Given the description of an element on the screen output the (x, y) to click on. 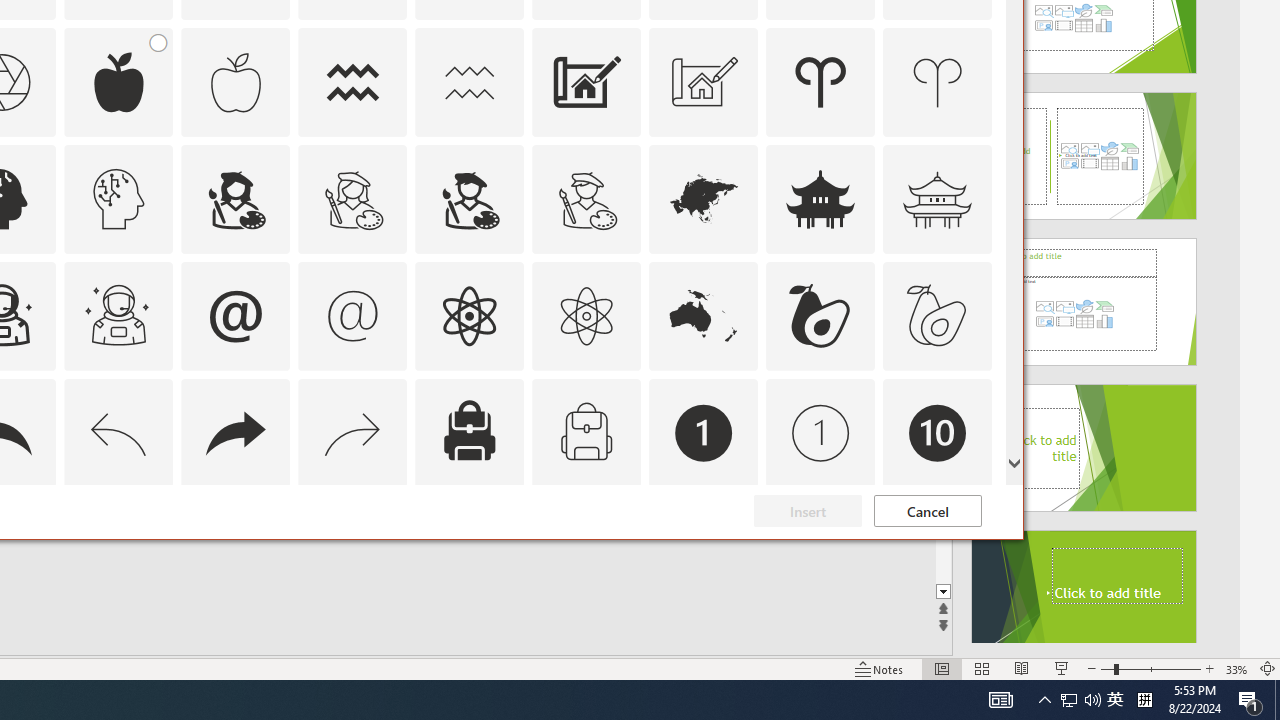
AutomationID: Icons_Aquarius (353, 82)
AutomationID: Icons_ArtistFemale_M (353, 198)
Thumbnail (977, 511)
AutomationID: Icons_Badge6 (118, 550)
AutomationID: Icons_Badge8_M (703, 550)
AutomationID: Icons_Back_LTR_M (118, 432)
AutomationID: Icons_Backpack (469, 432)
AutomationID: Icons_At_M (353, 316)
AutomationID: Icons_Architecture_M (703, 82)
